Given the description of an element on the screen output the (x, y) to click on. 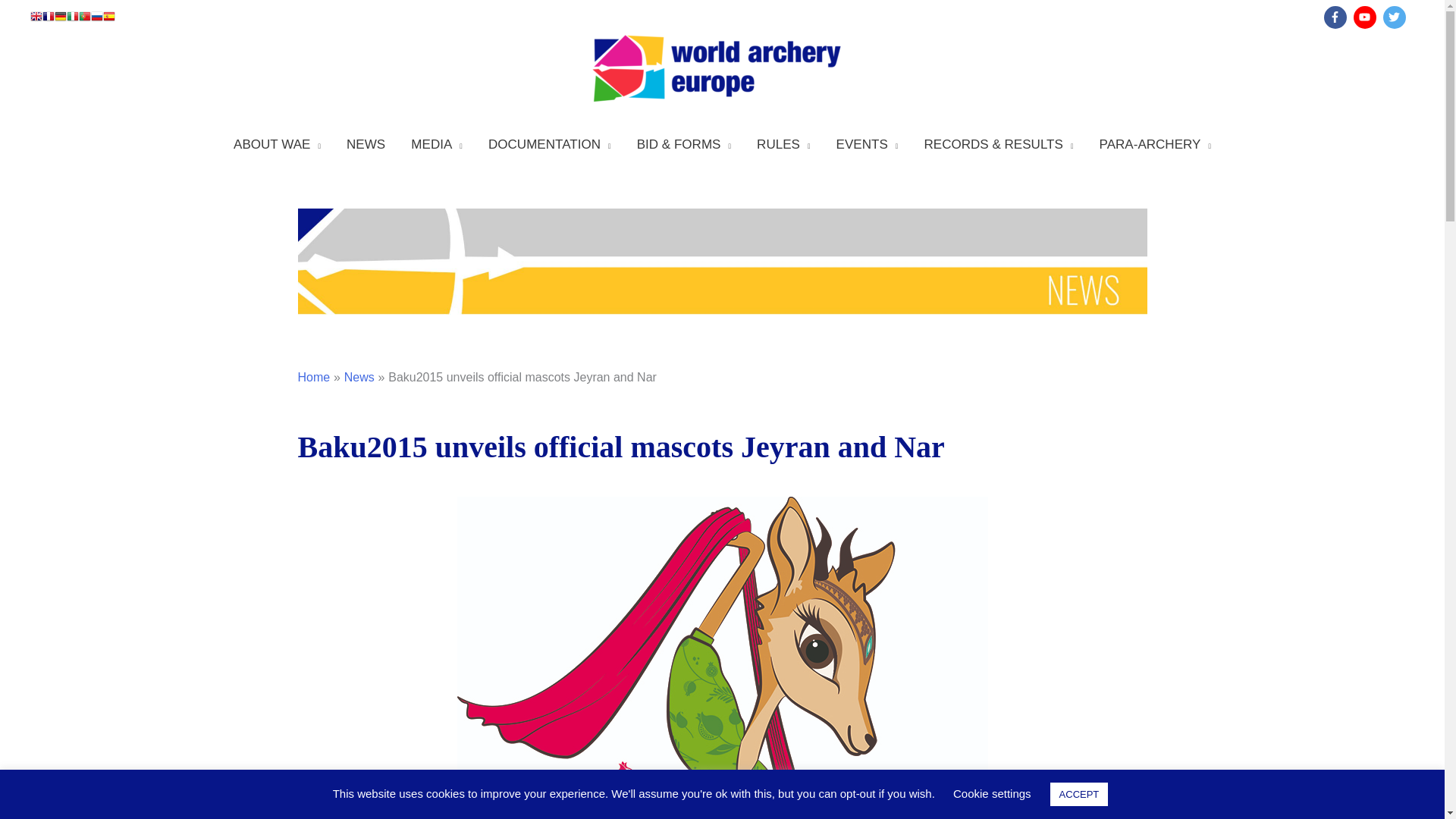
MEDIA (436, 144)
English (36, 17)
French (48, 17)
BANNER1200x150-02 (722, 261)
Russian (96, 17)
Spanish (109, 17)
Italian (72, 17)
German (60, 17)
ABOUT WAE (277, 144)
NEWS (365, 144)
Portuguese (84, 17)
